Given the description of an element on the screen output the (x, y) to click on. 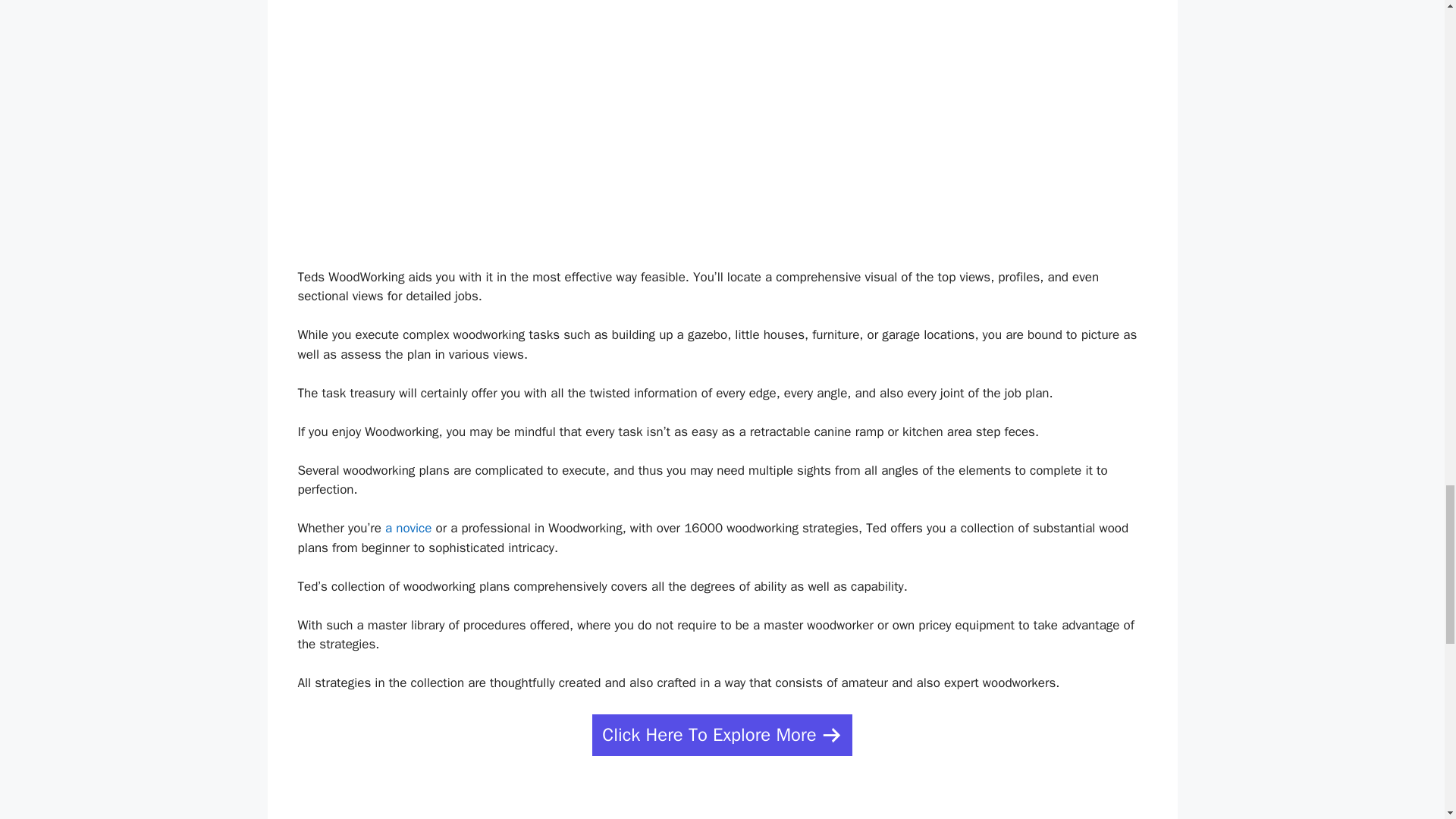
a novice (407, 528)
Click Here To Explore More (721, 734)
